Given the description of an element on the screen output the (x, y) to click on. 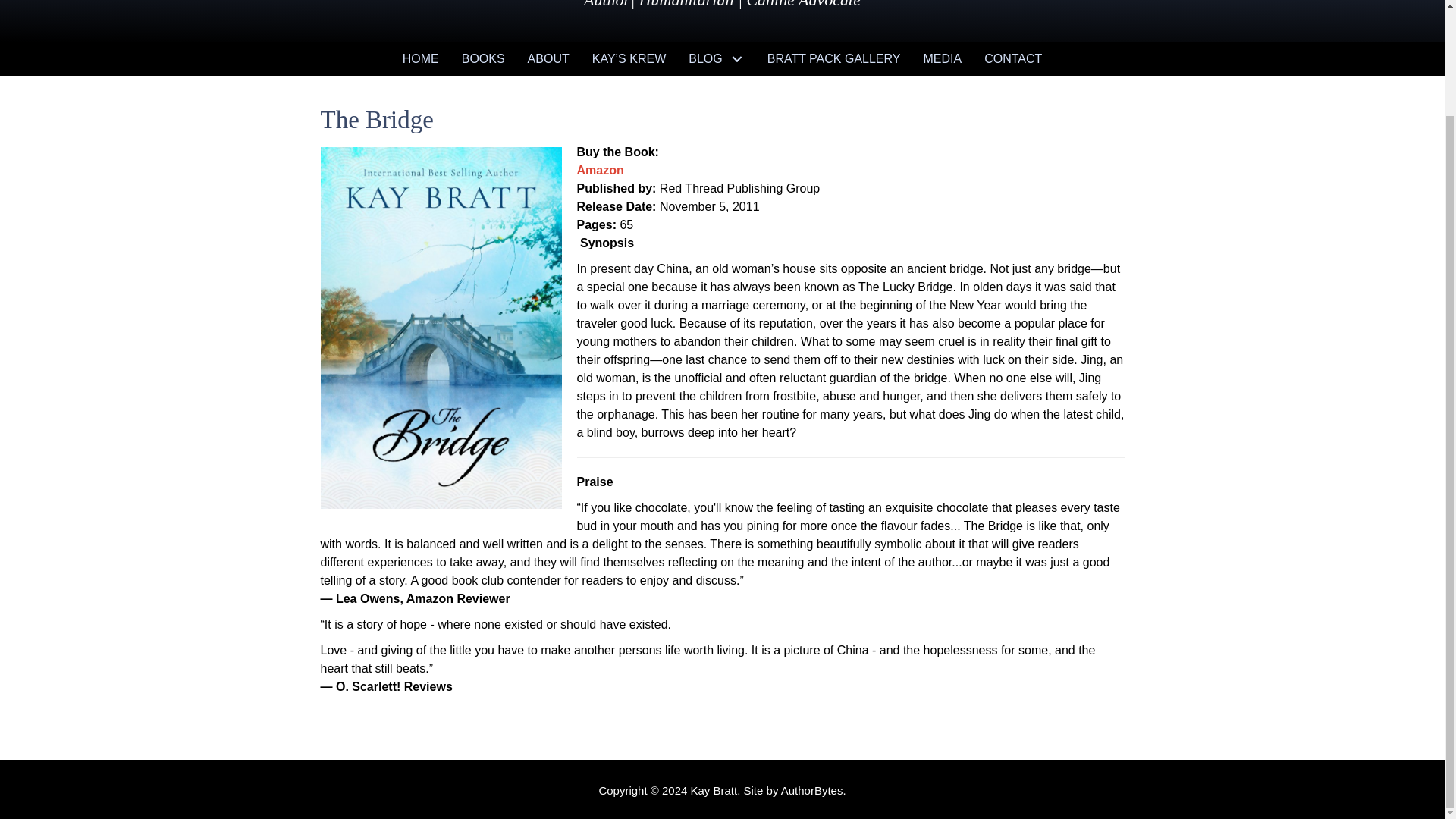
HOME (420, 59)
BOOKS (482, 59)
Amazon (599, 169)
BRATT PACK GALLERY (833, 59)
CONTACT (1012, 59)
AuthorBytes (811, 789)
ABOUT (548, 59)
MEDIA (941, 59)
BLOG (716, 59)
